Given the description of an element on the screen output the (x, y) to click on. 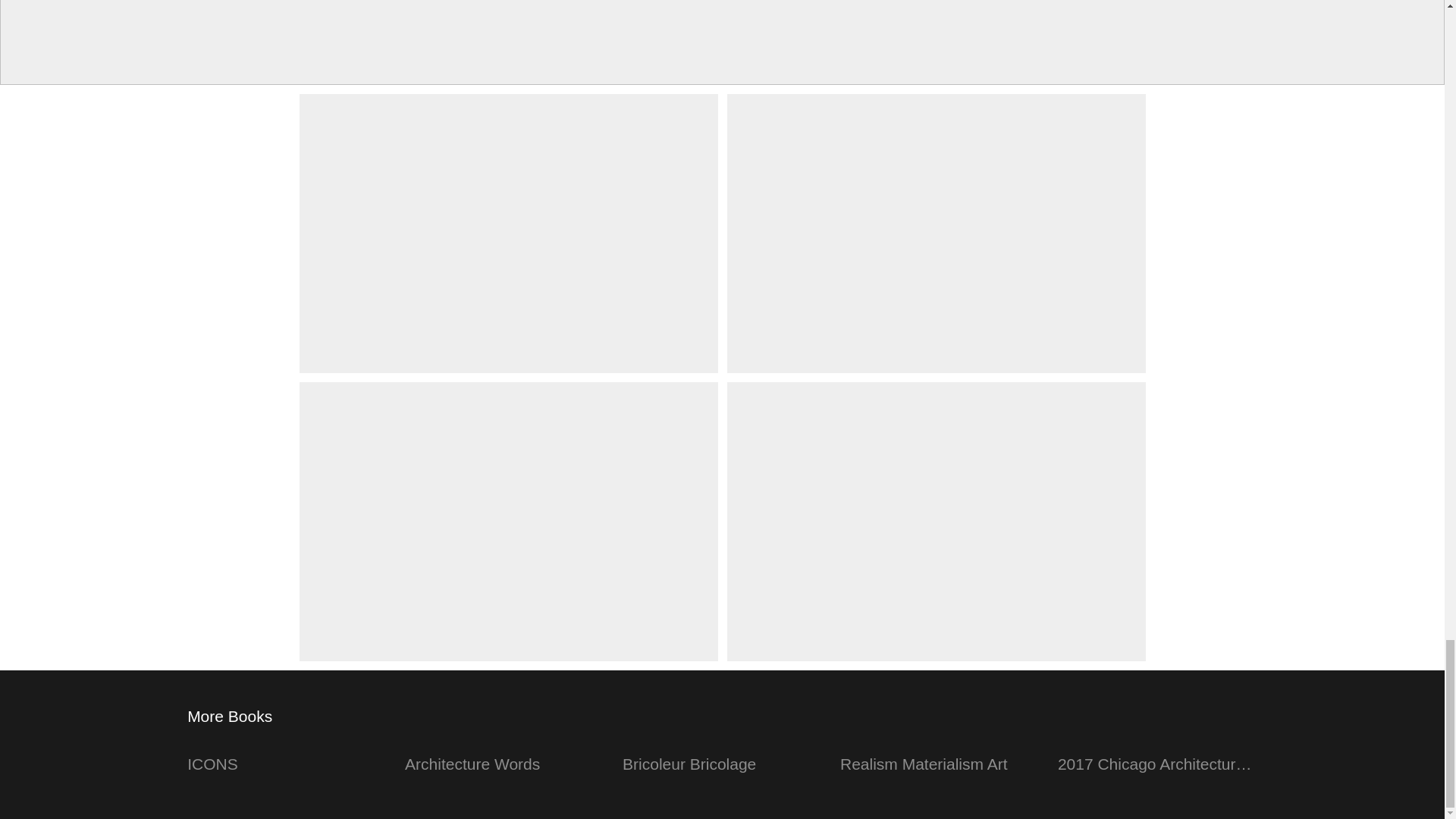
Architecture Words (504, 753)
2017 Chicago Architecture Biennial: Make New History (1157, 753)
Realism Materialism Art (939, 753)
ICONS (286, 753)
Bricoleur Bricolage (721, 753)
